Given the description of an element on the screen output the (x, y) to click on. 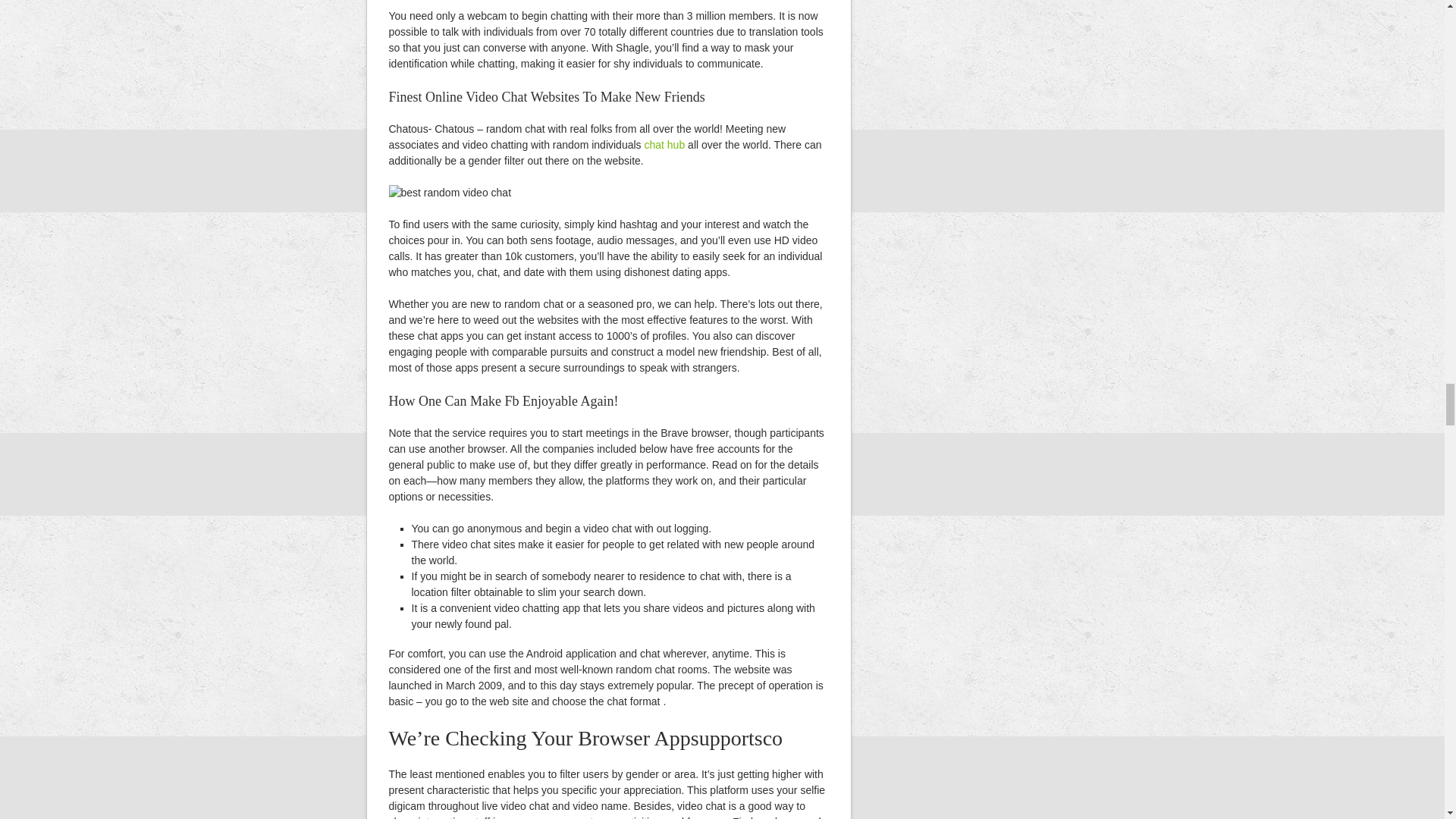
chat hub (663, 144)
